Given the description of an element on the screen output the (x, y) to click on. 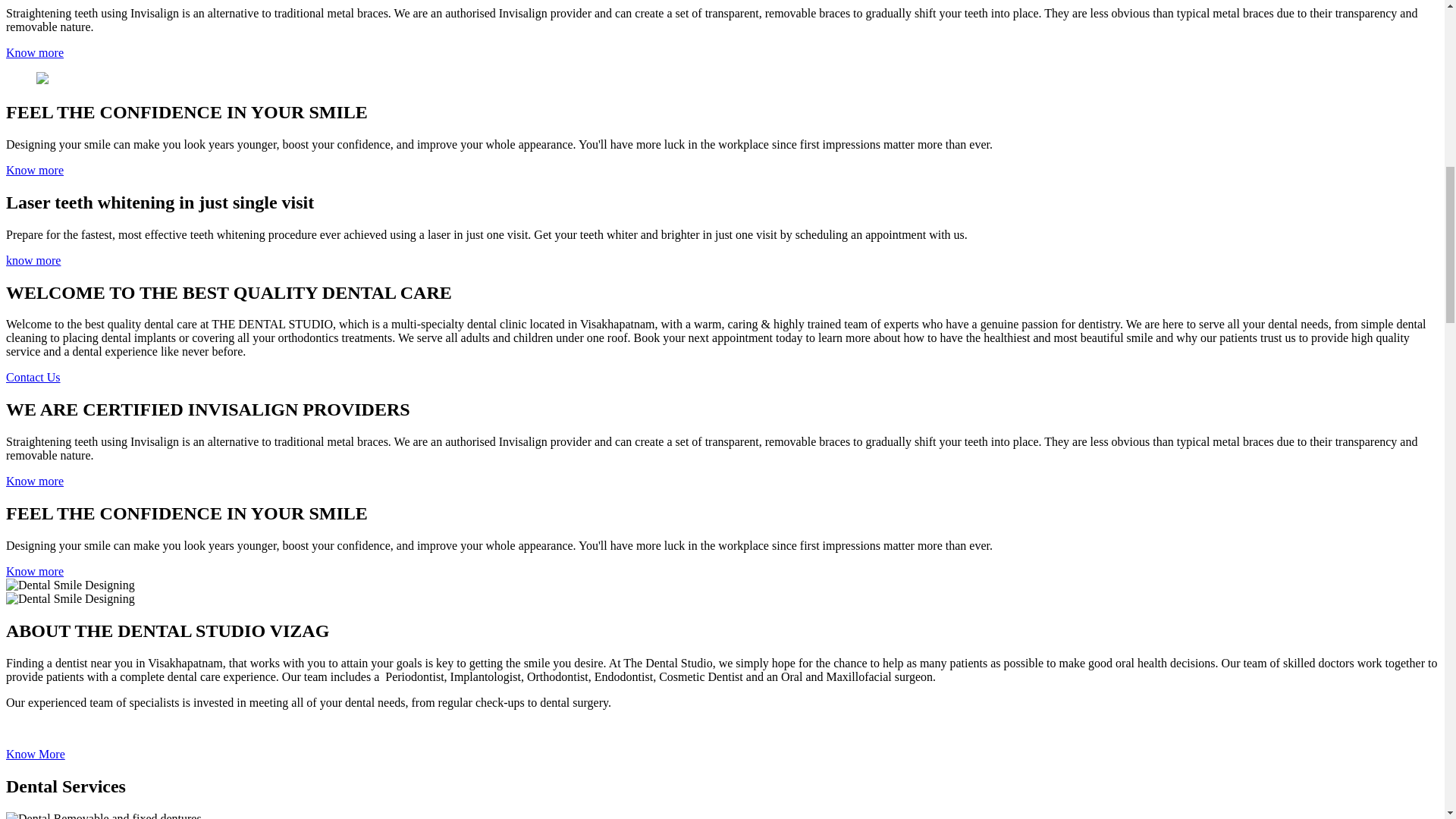
Know More (35, 753)
know more (33, 259)
Contact Us (33, 377)
Know more (34, 571)
Know more (34, 169)
Know more (34, 51)
Know more (34, 481)
